Given the description of an element on the screen output the (x, y) to click on. 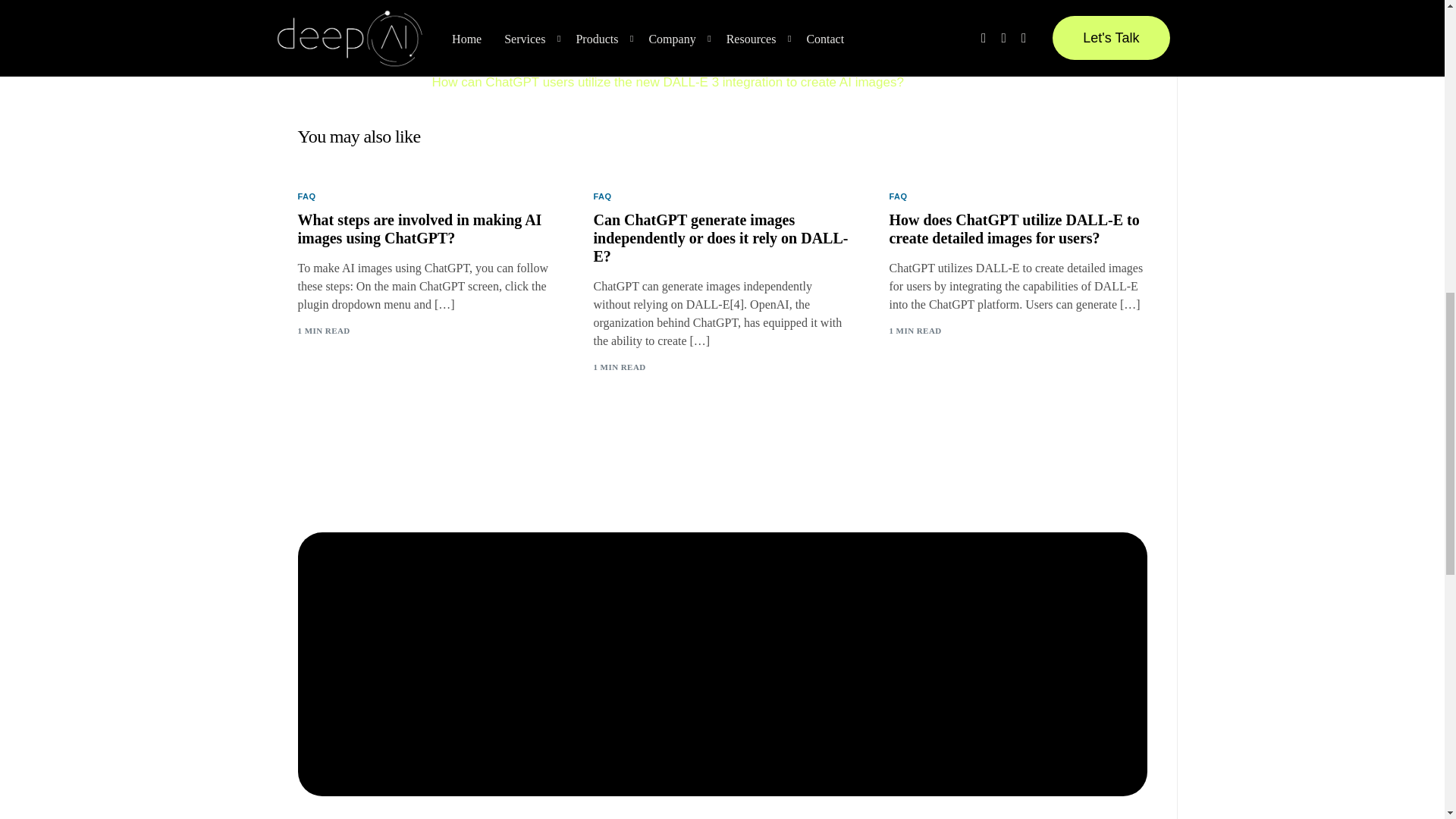
View FAQ posts (897, 196)
View FAQ posts (306, 196)
View FAQ posts (601, 196)
